Given the description of an element on the screen output the (x, y) to click on. 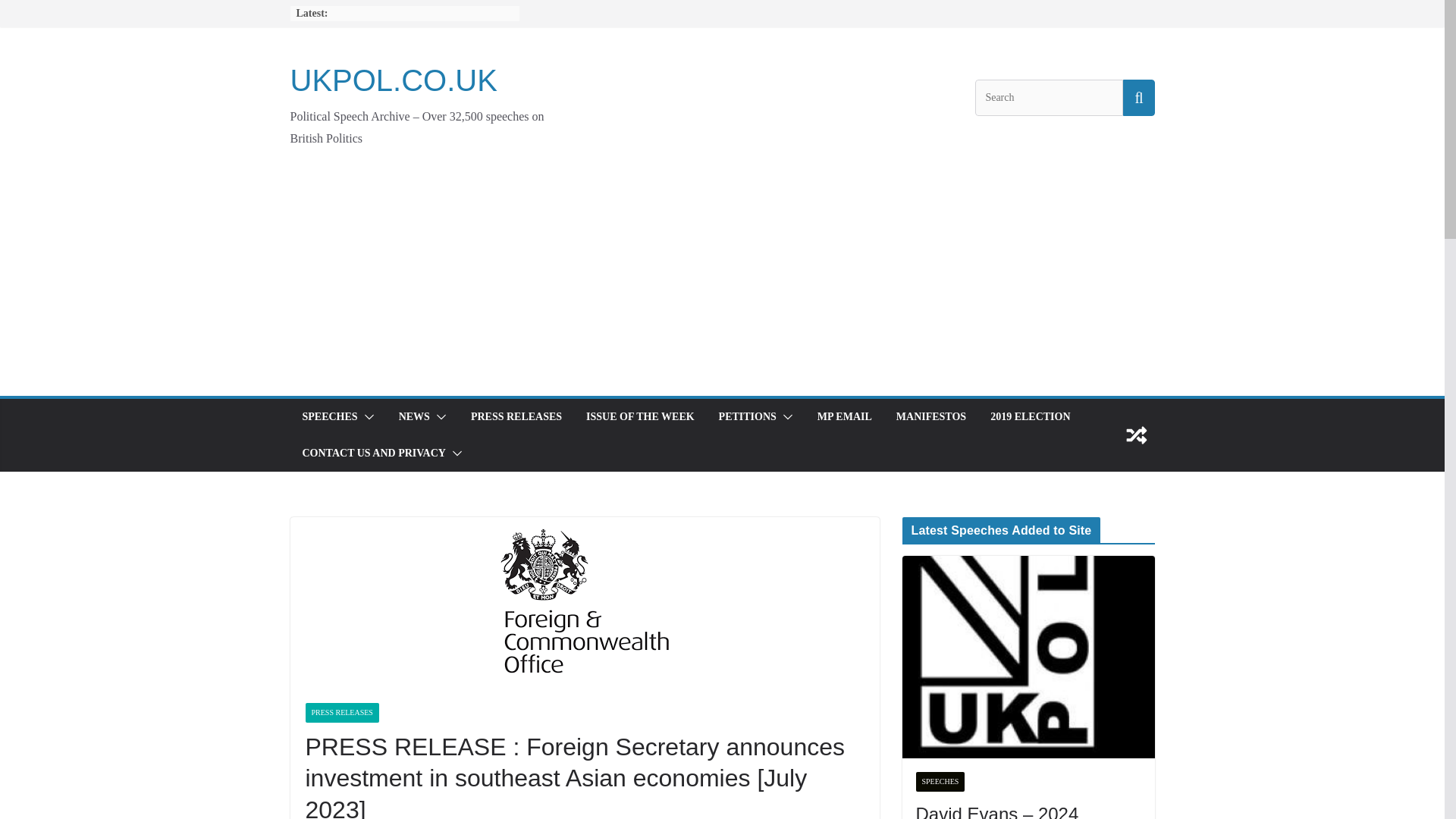
View a random post (1136, 434)
SPEECHES (328, 416)
UKPOL.CO.UK (392, 80)
MANIFESTOS (931, 416)
PETITIONS (747, 416)
2019 ELECTION (1030, 416)
ISSUE OF THE WEEK (640, 416)
NEWS (413, 416)
PRESS RELEASES (516, 416)
